Given the description of an element on the screen output the (x, y) to click on. 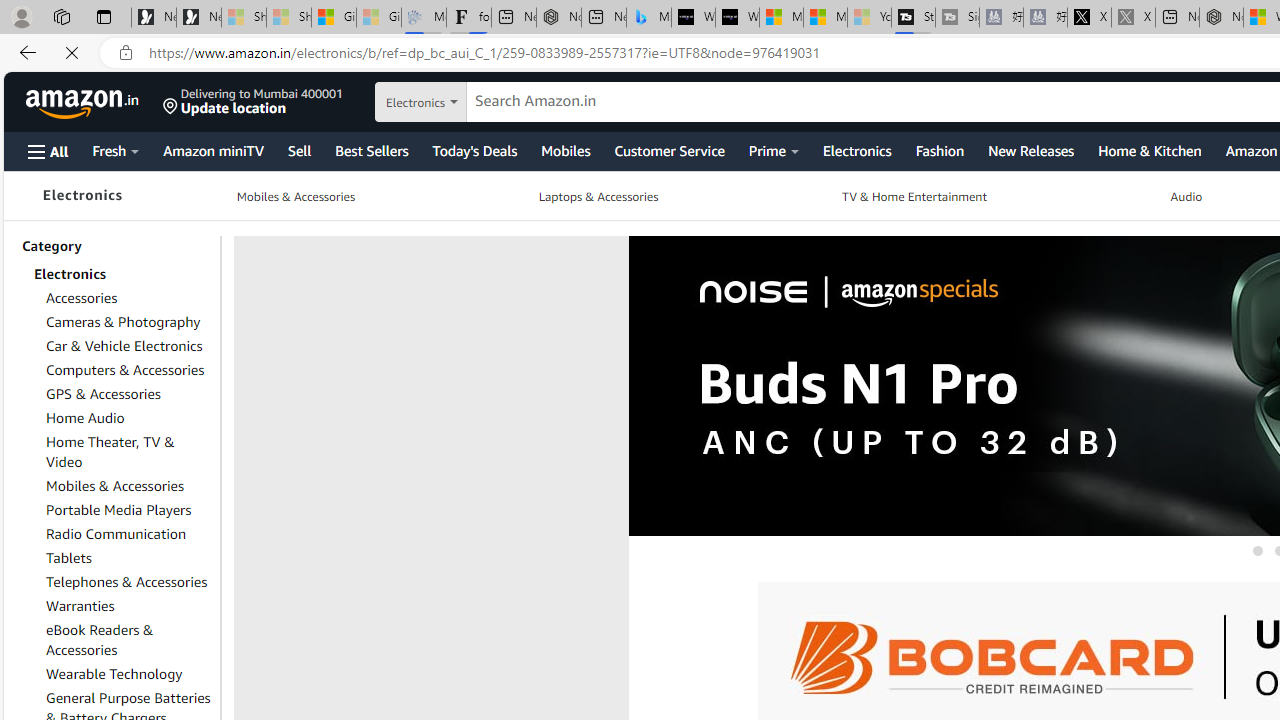
Fashion (938, 150)
Home & Kitchen (1149, 150)
Mobiles (564, 150)
Microsoft Start Sports (781, 17)
Newsletter Sign Up (198, 17)
Streaming Coverage | T3 (913, 17)
Microsoft Start (825, 17)
X (1089, 17)
